Given the description of an element on the screen output the (x, y) to click on. 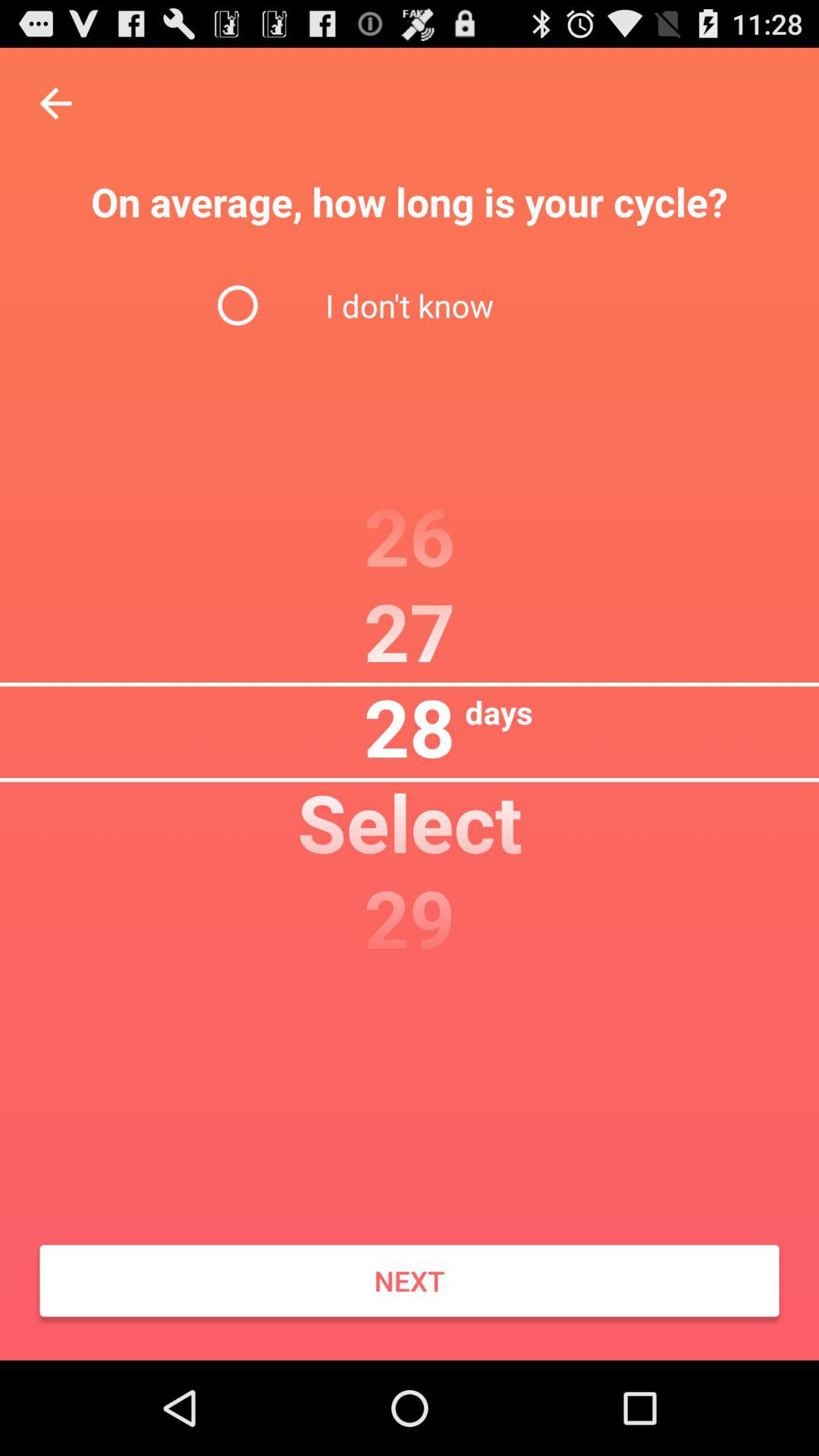
click icon above the 26 (409, 304)
